Given the description of an element on the screen output the (x, y) to click on. 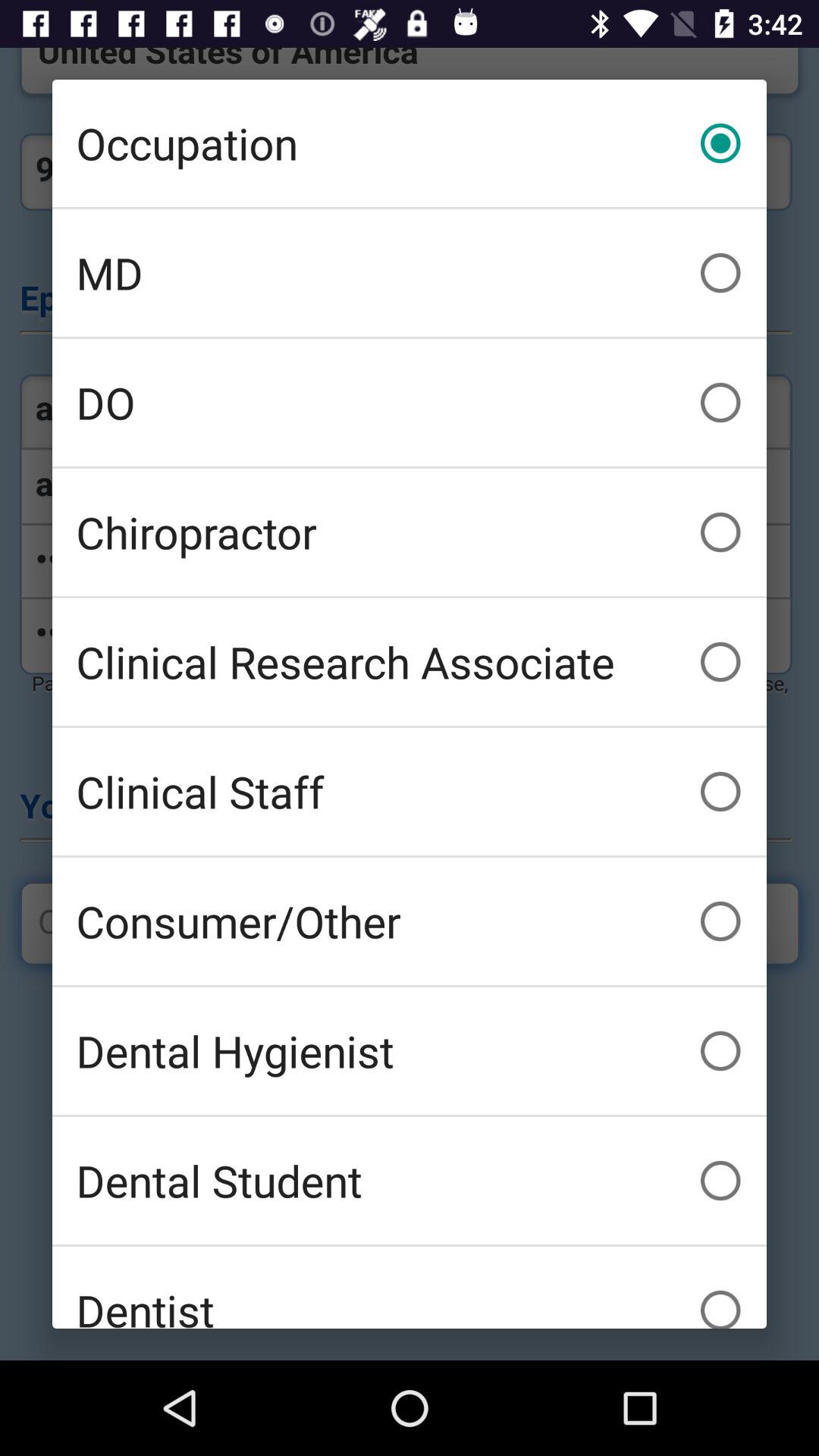
swipe to the dental student (409, 1180)
